Given the description of an element on the screen output the (x, y) to click on. 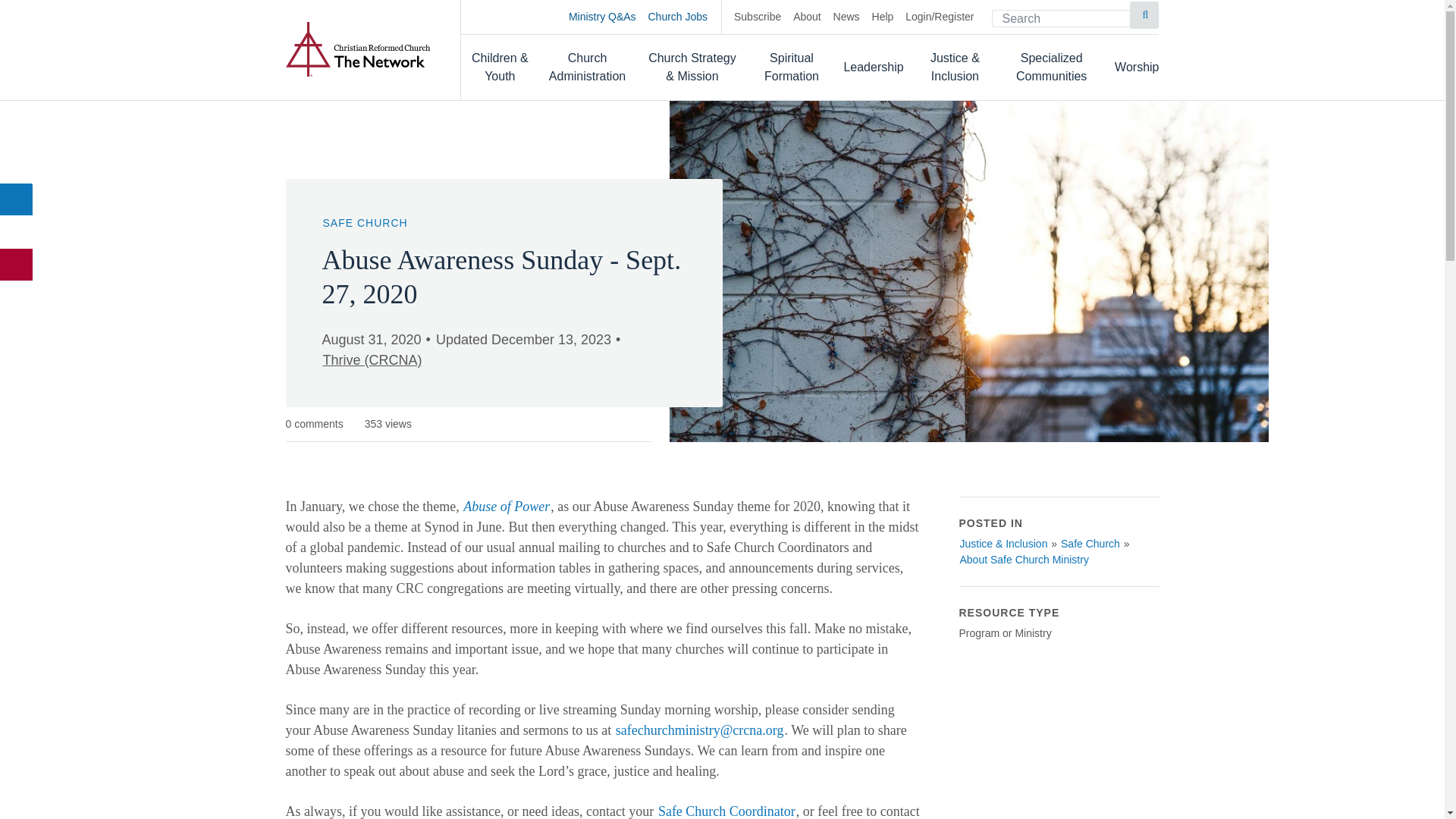
Church Administration (587, 67)
Spiritual Formation (791, 67)
Share to X (16, 231)
Submit (1143, 14)
Share to Facebook (16, 199)
Specialized Communities (1051, 67)
View user profile. (371, 360)
Submit (1143, 14)
Home (357, 49)
Subscribe (756, 17)
Church Jobs (684, 17)
Abuse of Power (506, 506)
Safe Church Coordinator (727, 811)
SAFE CHURCH (364, 223)
